Given the description of an element on the screen output the (x, y) to click on. 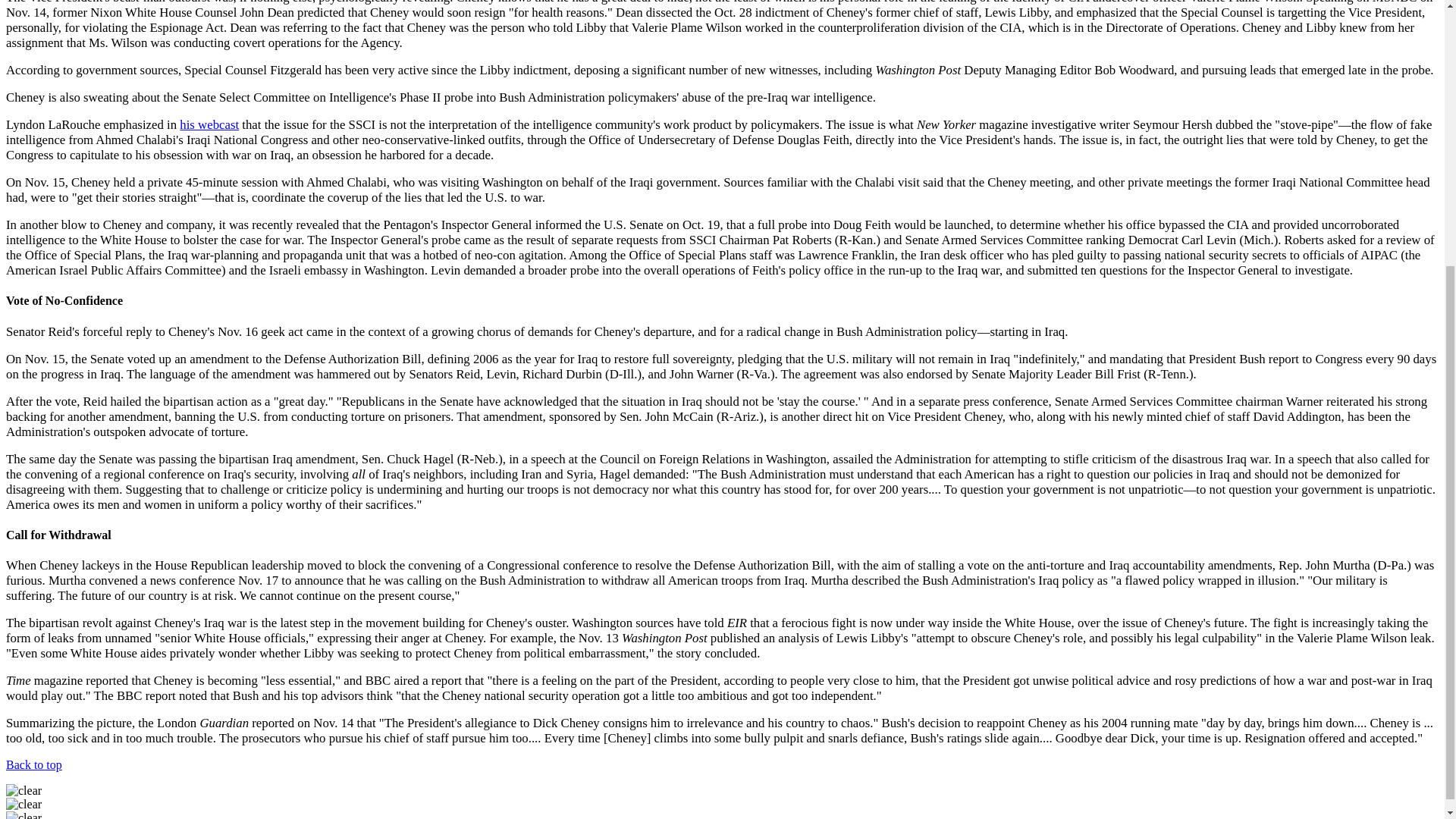
Back to top (33, 764)
his webcast (208, 124)
